Given the description of an element on the screen output the (x, y) to click on. 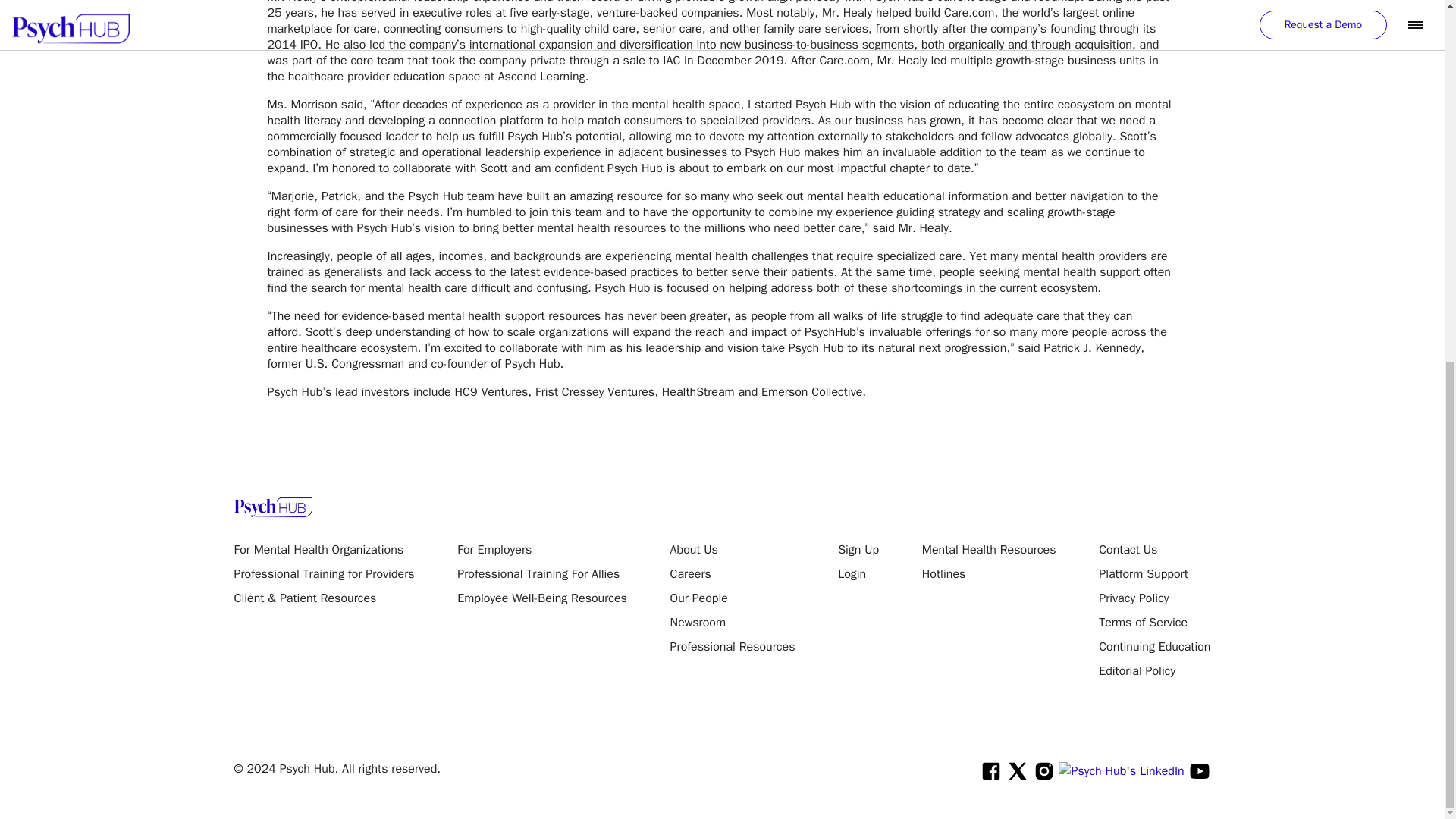
For Mental Health Organizations (322, 549)
Professional Resources (731, 647)
Login (858, 574)
Sign Up (858, 549)
For Employers (542, 549)
Professional Training for Providers (322, 574)
Professional Training For Allies (542, 574)
Hotlines (989, 574)
Our People (731, 597)
Mental Health Resources (989, 549)
